Given the description of an element on the screen output the (x, y) to click on. 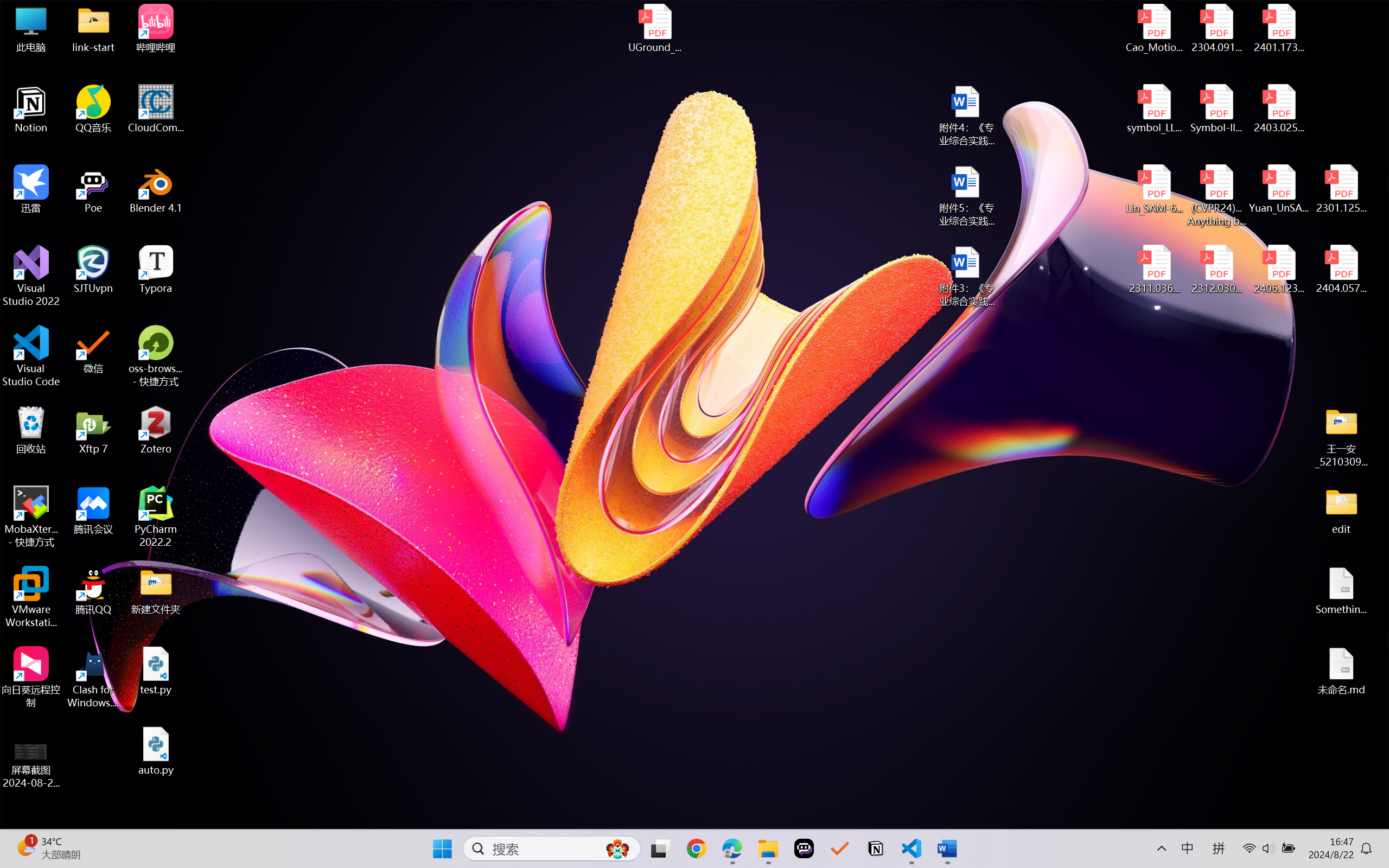
UGround_paper.pdf (654, 28)
2311.03658v2.pdf (1154, 269)
2404.05719v1.pdf (1340, 269)
VMware Workstation Pro (31, 597)
CloudCompare (156, 109)
2301.12597v3.pdf (1340, 189)
